Given the description of an element on the screen output the (x, y) to click on. 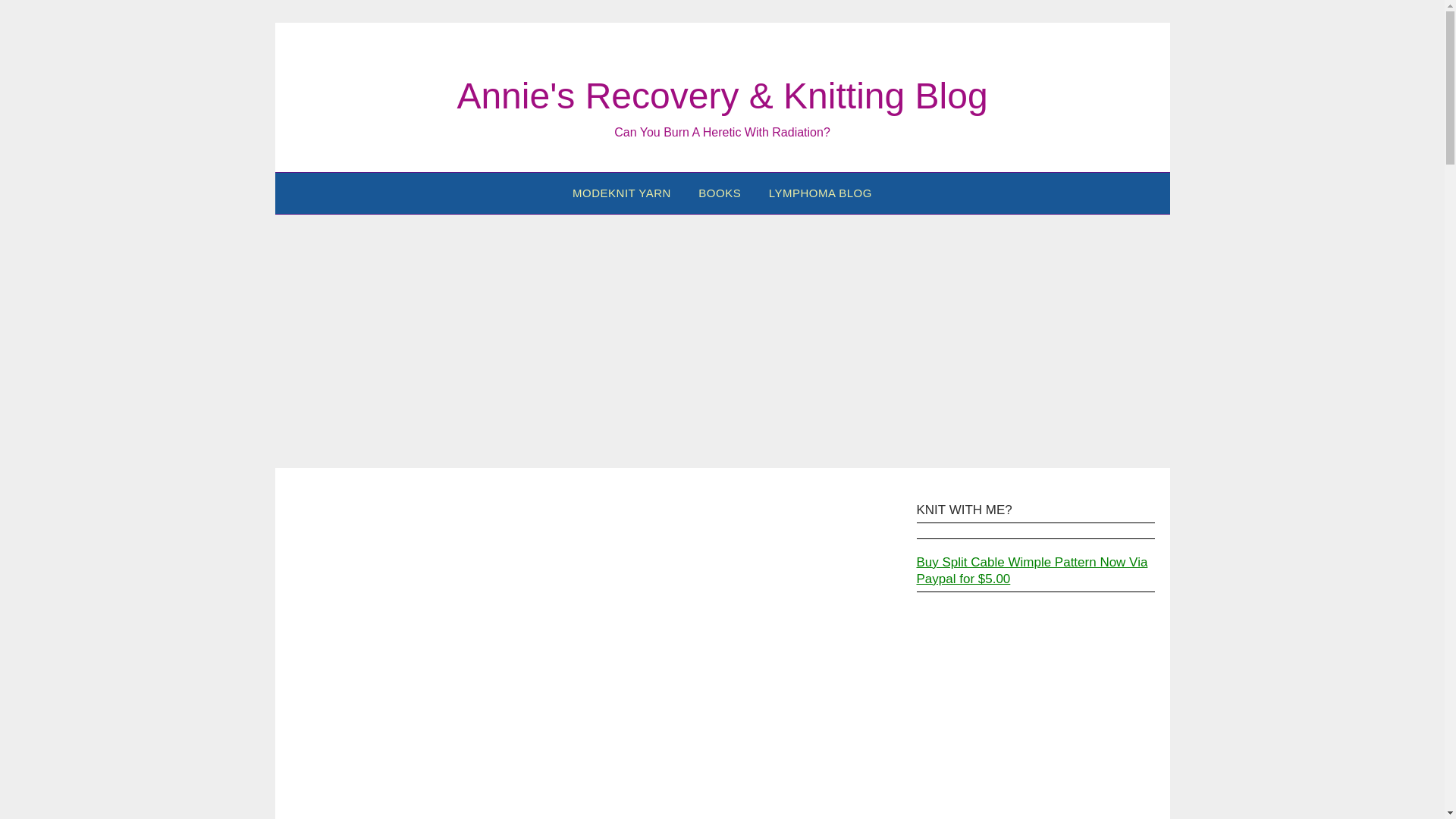
BOOKS (718, 192)
MODEKNIT YARN (621, 192)
LYMPHOMA BLOG (820, 192)
